Given the description of an element on the screen output the (x, y) to click on. 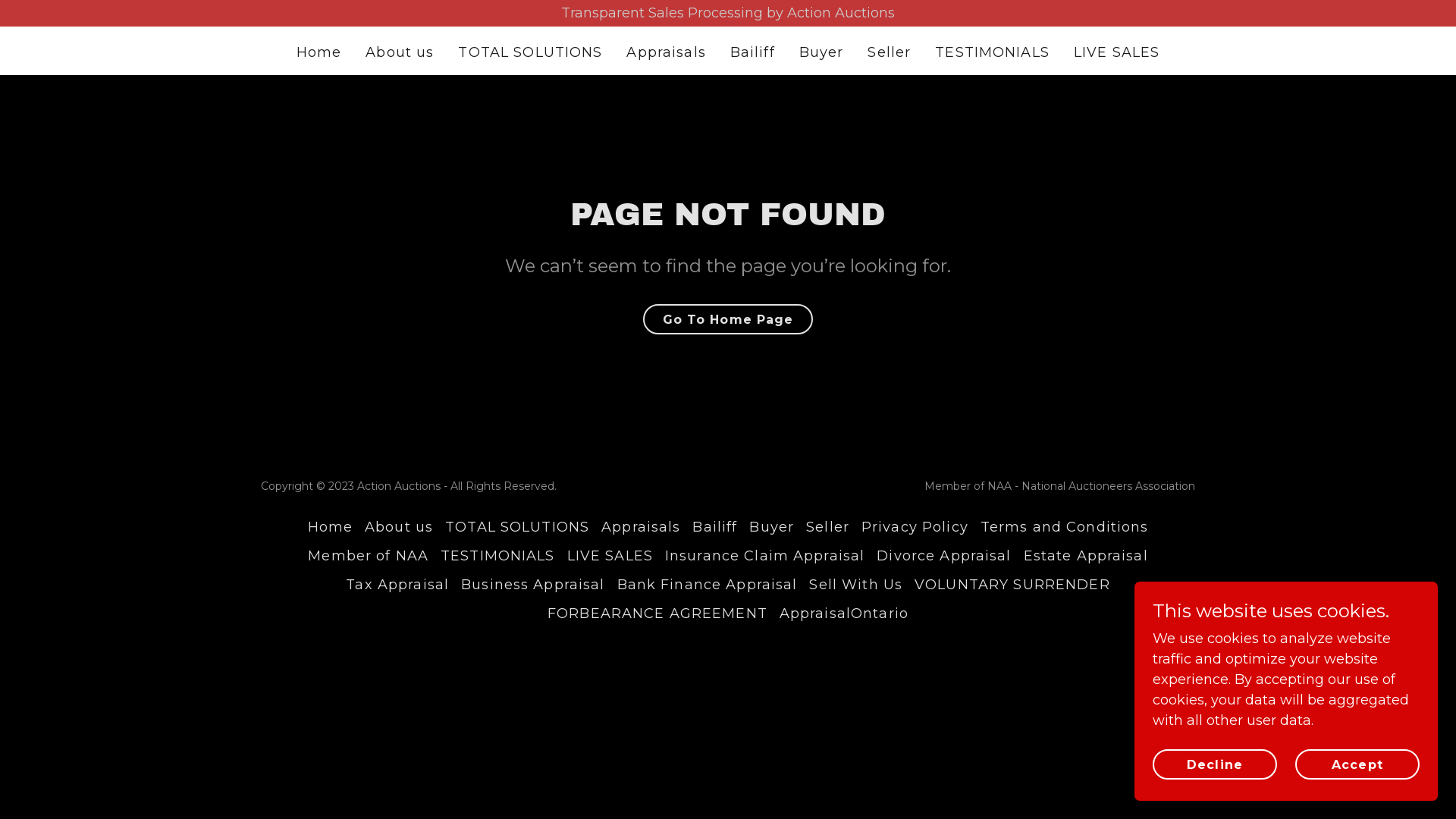
LIVE SALES Element type: text (609, 555)
About us Element type: text (399, 52)
TOTAL SOLUTIONS Element type: text (517, 526)
Privacy Policy Element type: text (914, 526)
Seller Element type: text (827, 526)
Home Element type: text (330, 526)
Seller Element type: text (888, 52)
TESTIMONIALS Element type: text (992, 52)
Accept Element type: text (1357, 764)
Appraisals Element type: text (665, 52)
LIVE SALES Element type: text (1116, 52)
FORBEARANCE AGREEMENT Element type: text (657, 613)
Insurance Claim Appraisal Element type: text (764, 555)
VOLUNTARY SURRENDER Element type: text (1012, 584)
TESTIMONIALS Element type: text (497, 555)
Home Element type: text (318, 52)
Buyer Element type: text (771, 526)
Terms and Conditions Element type: text (1064, 526)
Divorce Appraisal Element type: text (943, 555)
Estate Appraisal Element type: text (1085, 555)
Bank Finance Appraisal Element type: text (707, 584)
Member of NAA Element type: text (367, 555)
About us Element type: text (398, 526)
Business Appraisal Element type: text (532, 584)
Sell With Us Element type: text (855, 584)
Bailiff Element type: text (752, 52)
TOTAL SOLUTIONS Element type: text (529, 52)
Decline Element type: text (1214, 764)
Appraisals Element type: text (640, 526)
Bailiff Element type: text (714, 526)
Tax Appraisal Element type: text (397, 584)
Buyer Element type: text (821, 52)
Go To Home Page Element type: text (727, 319)
AppraisalOntario Element type: text (843, 613)
